Given the description of an element on the screen output the (x, y) to click on. 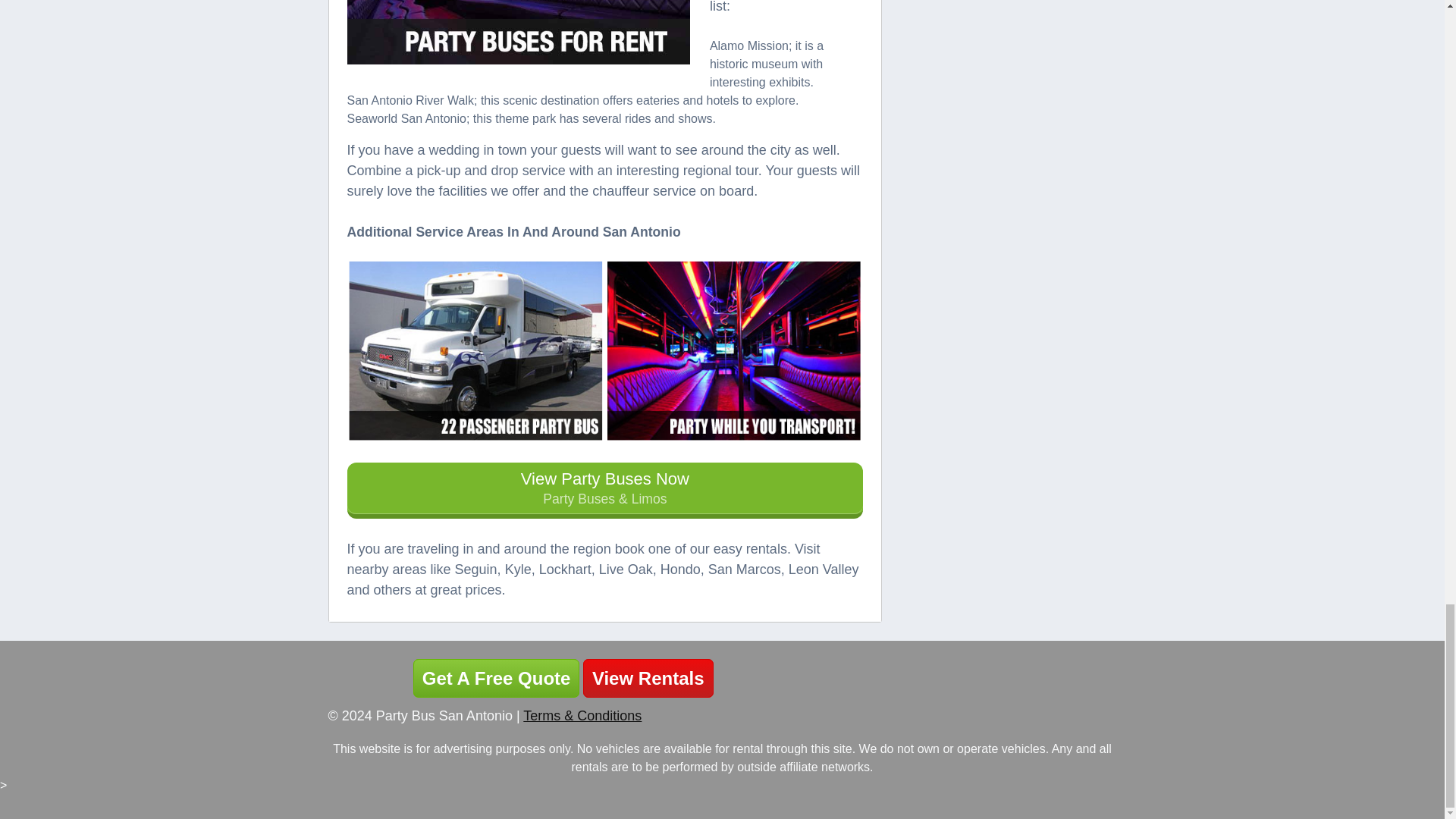
View Rentals (648, 678)
Get A Free Quote (496, 678)
